Given the description of an element on the screen output the (x, y) to click on. 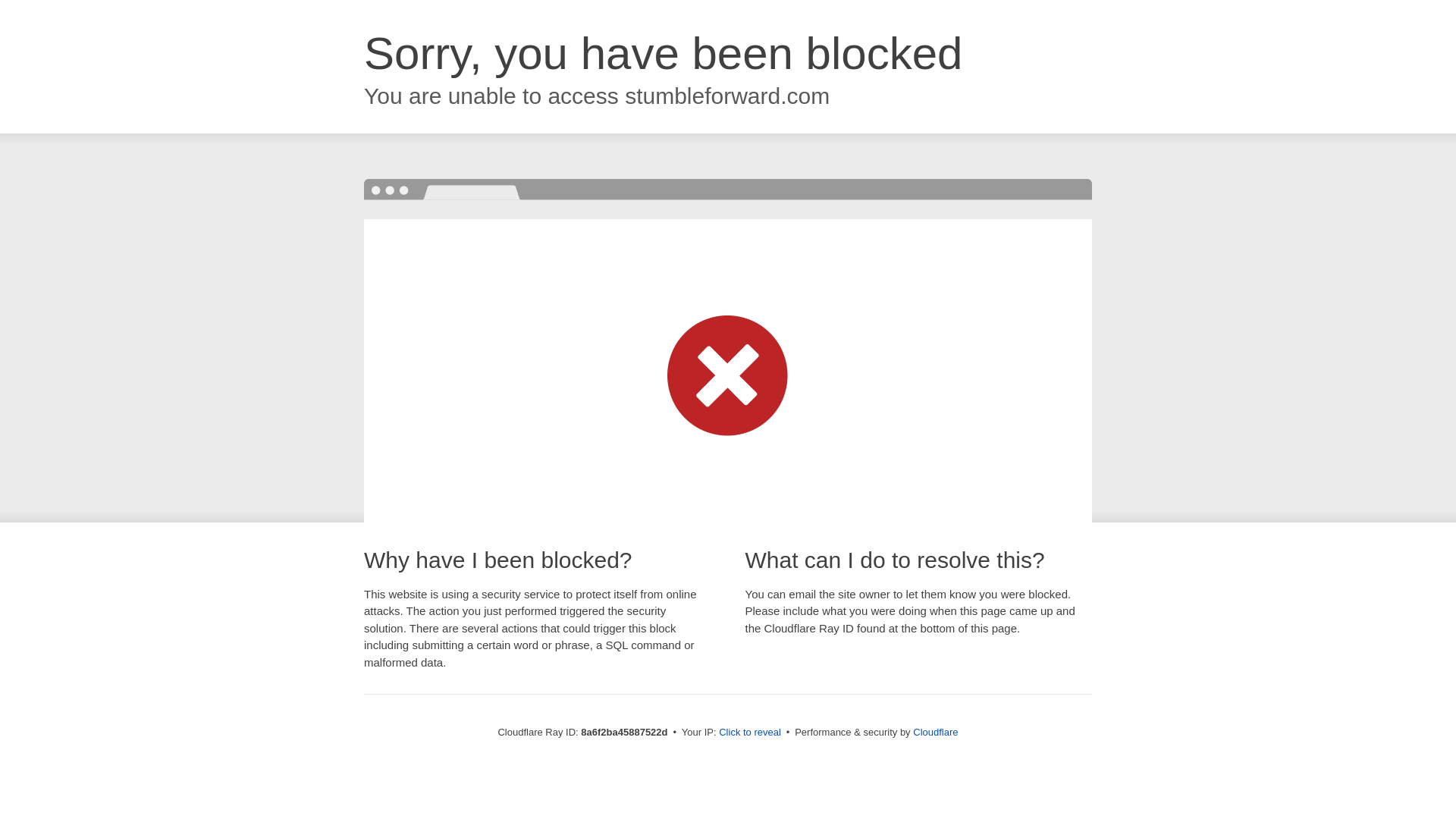
Cloudflare (935, 731)
Click to reveal (749, 732)
